Given the description of an element on the screen output the (x, y) to click on. 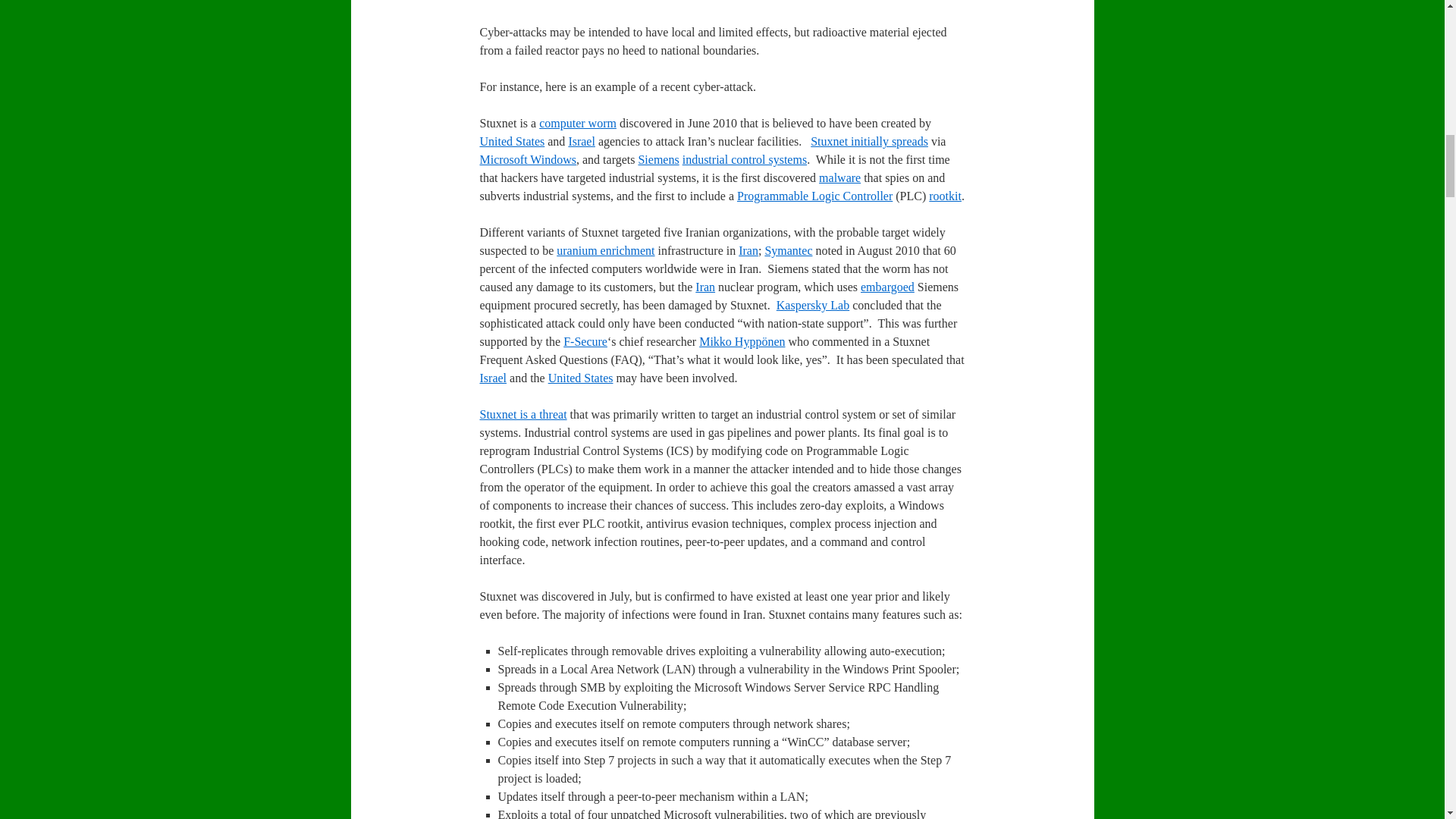
Symantec (788, 250)
embargoed (887, 286)
industrial control systems (744, 159)
Microsoft Windows (527, 159)
computer worm (576, 123)
Symantec (788, 250)
Siemens (657, 159)
Programmable logic controller (814, 195)
Israel (581, 141)
uranium enrichment (604, 250)
Israel (581, 141)
Enriched uranium (604, 250)
Iran (748, 250)
United States (580, 377)
Stuxnet is a threat (522, 413)
